Given the description of an element on the screen output the (x, y) to click on. 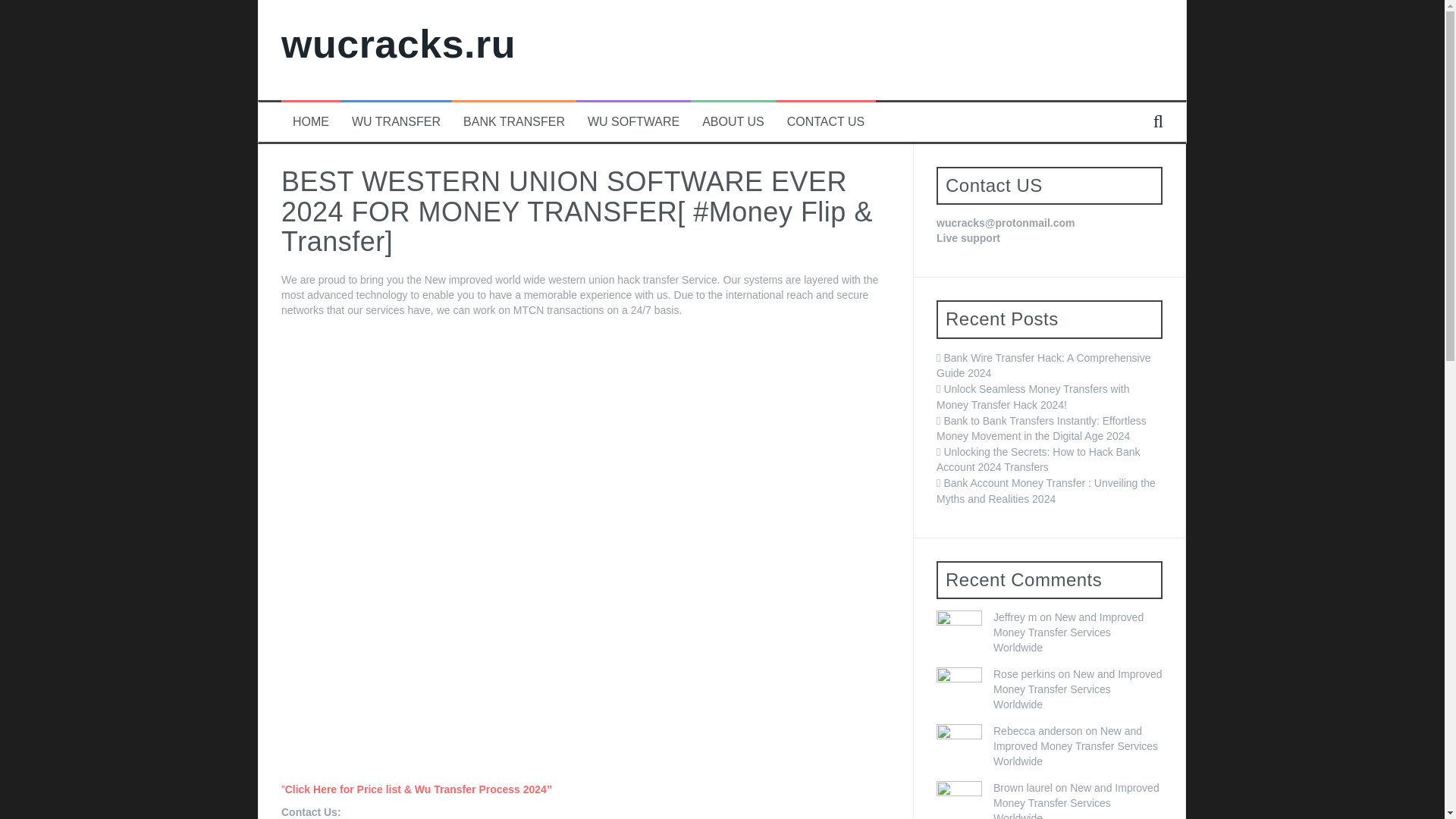
WU SOFTWARE (633, 122)
WU TRANSFER (396, 122)
CONTACT US (825, 122)
BANK TRANSFER (513, 122)
HOME (310, 122)
wucracks.ru (398, 44)
ABOUT US (732, 122)
